Given the description of an element on the screen output the (x, y) to click on. 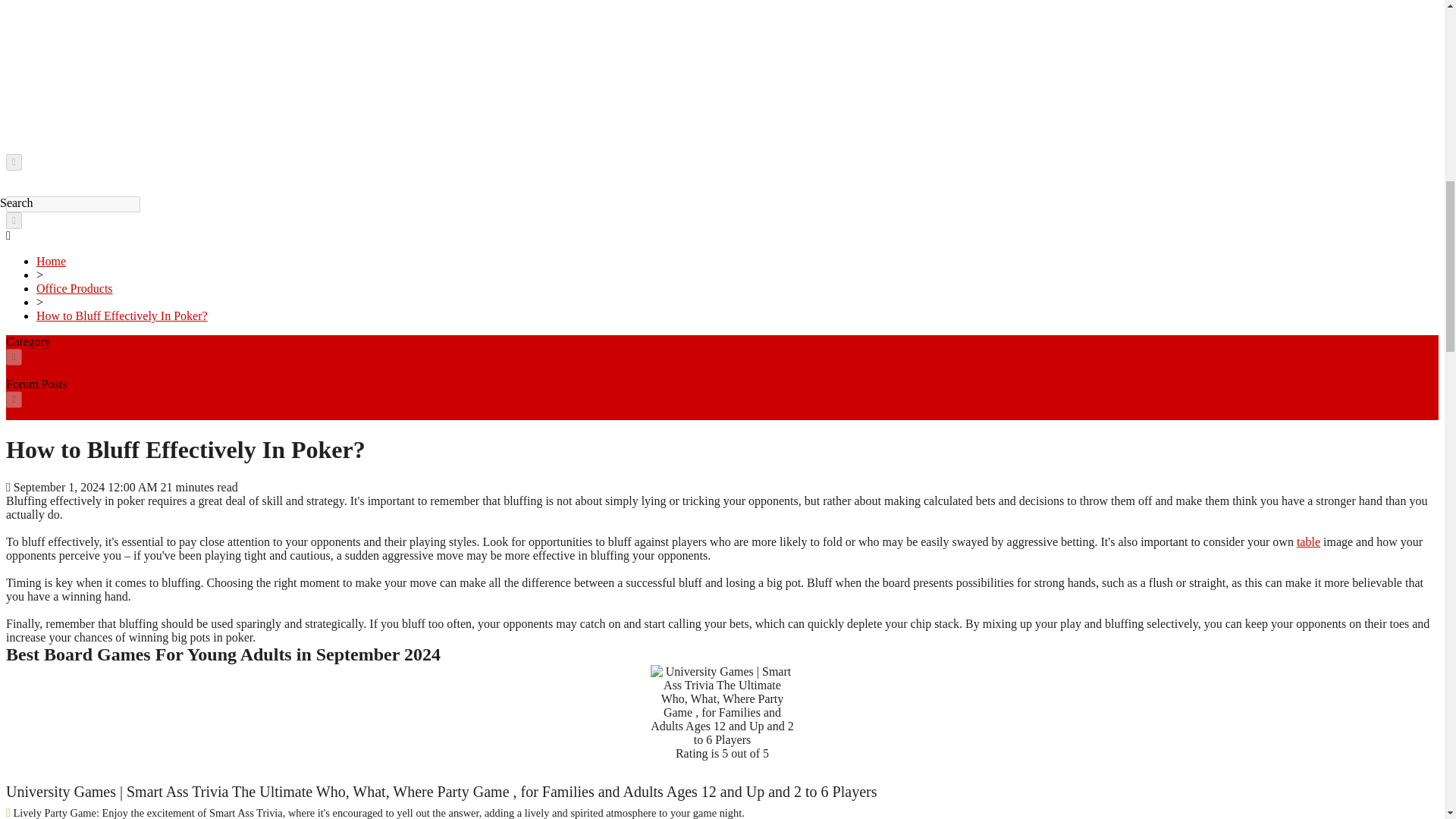
Office Products (74, 287)
table (1308, 541)
How to Bluff Effectively In Poker? (122, 315)
Home (50, 260)
